Given the description of an element on the screen output the (x, y) to click on. 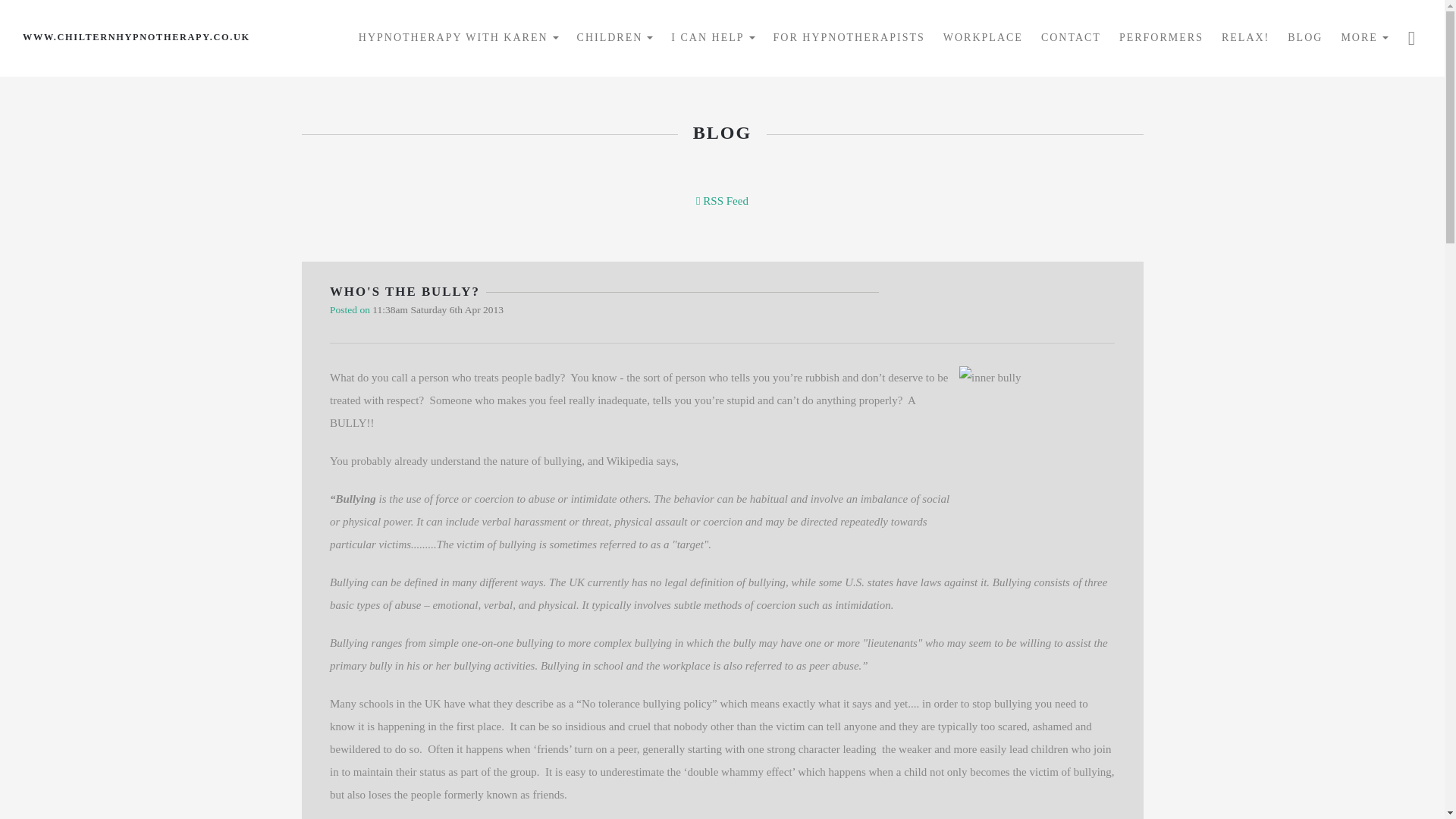
FOR HYPNOTHERAPISTS (849, 37)
WWW.CHILTERNHYPNOTHERAPY.CO.UK (136, 36)
MORE (1364, 37)
U.S. (854, 582)
Intimidate (593, 499)
Harassment (539, 521)
threat (594, 521)
Psychological abuse (454, 604)
CHILDREN (614, 37)
United States (854, 582)
